Given the description of an element on the screen output the (x, y) to click on. 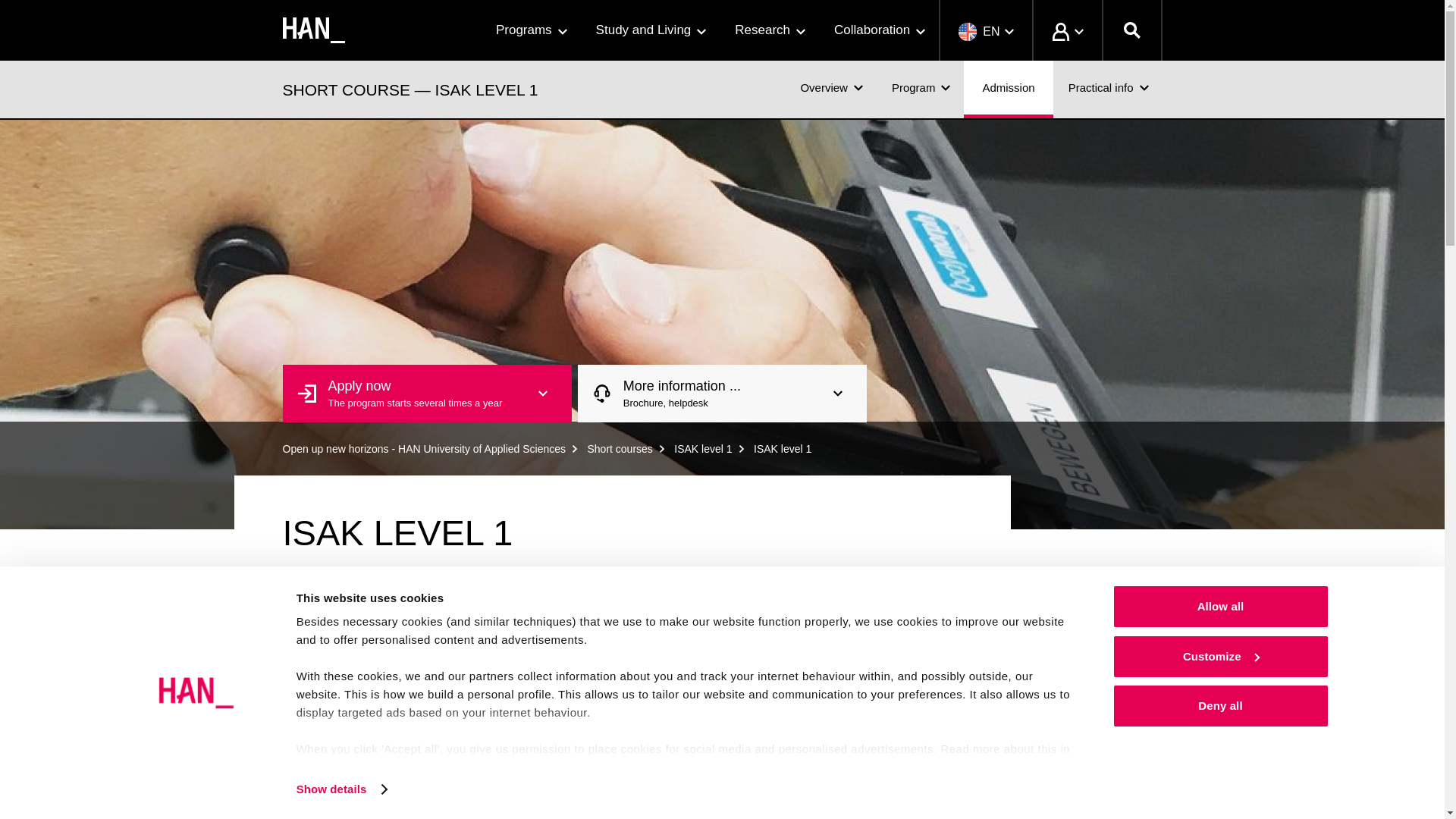
cookie statement (510, 784)
privacy statement (367, 766)
Show details (341, 789)
cookie statement (517, 766)
